Given the description of an element on the screen output the (x, y) to click on. 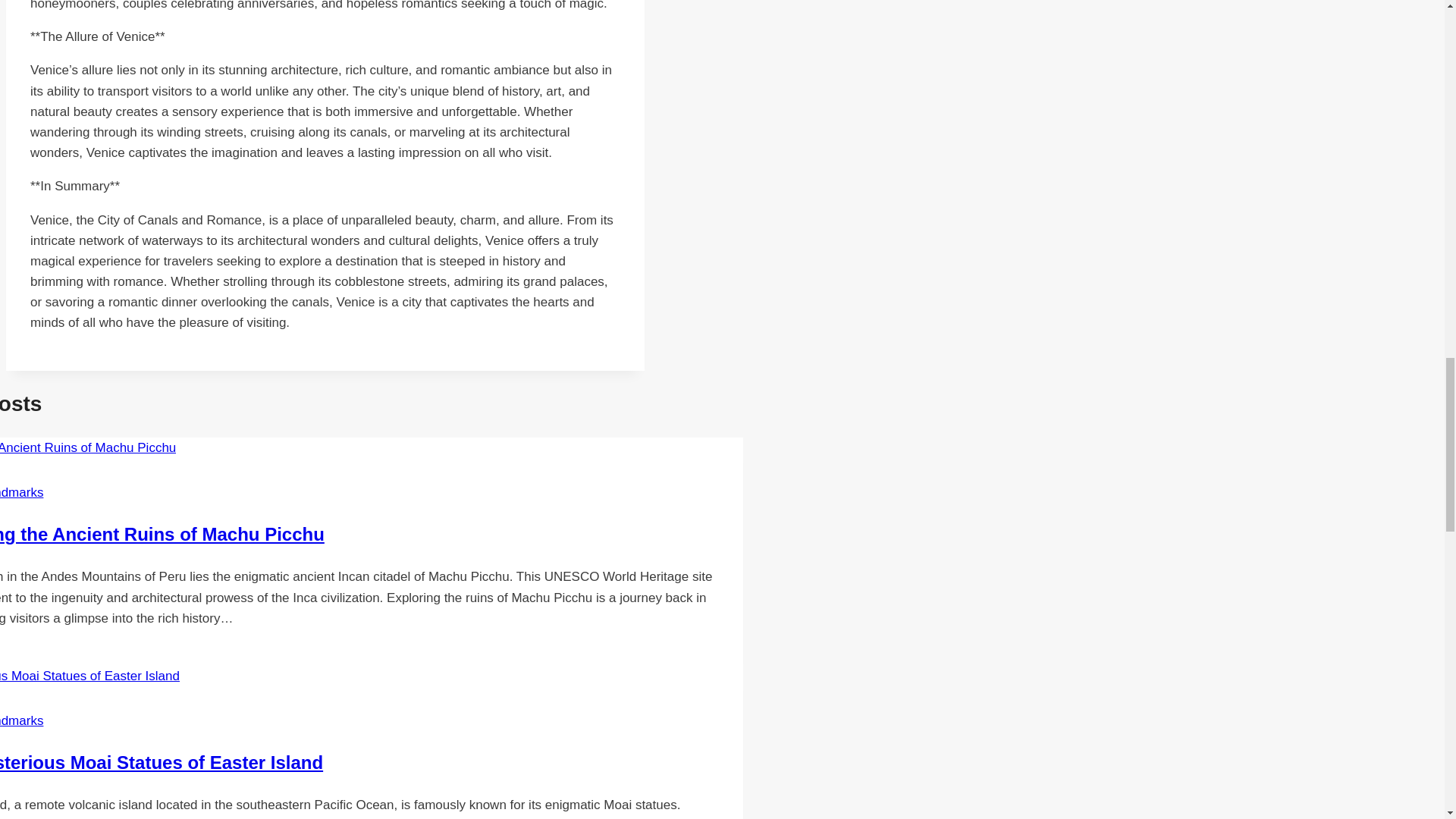
Cultural Landmarks (21, 492)
The Mysterious Moai Statues of Easter Island (161, 762)
Exploring the Ancient Ruins of Machu Picchu (162, 534)
Cultural Landmarks (21, 720)
